Given the description of an element on the screen output the (x, y) to click on. 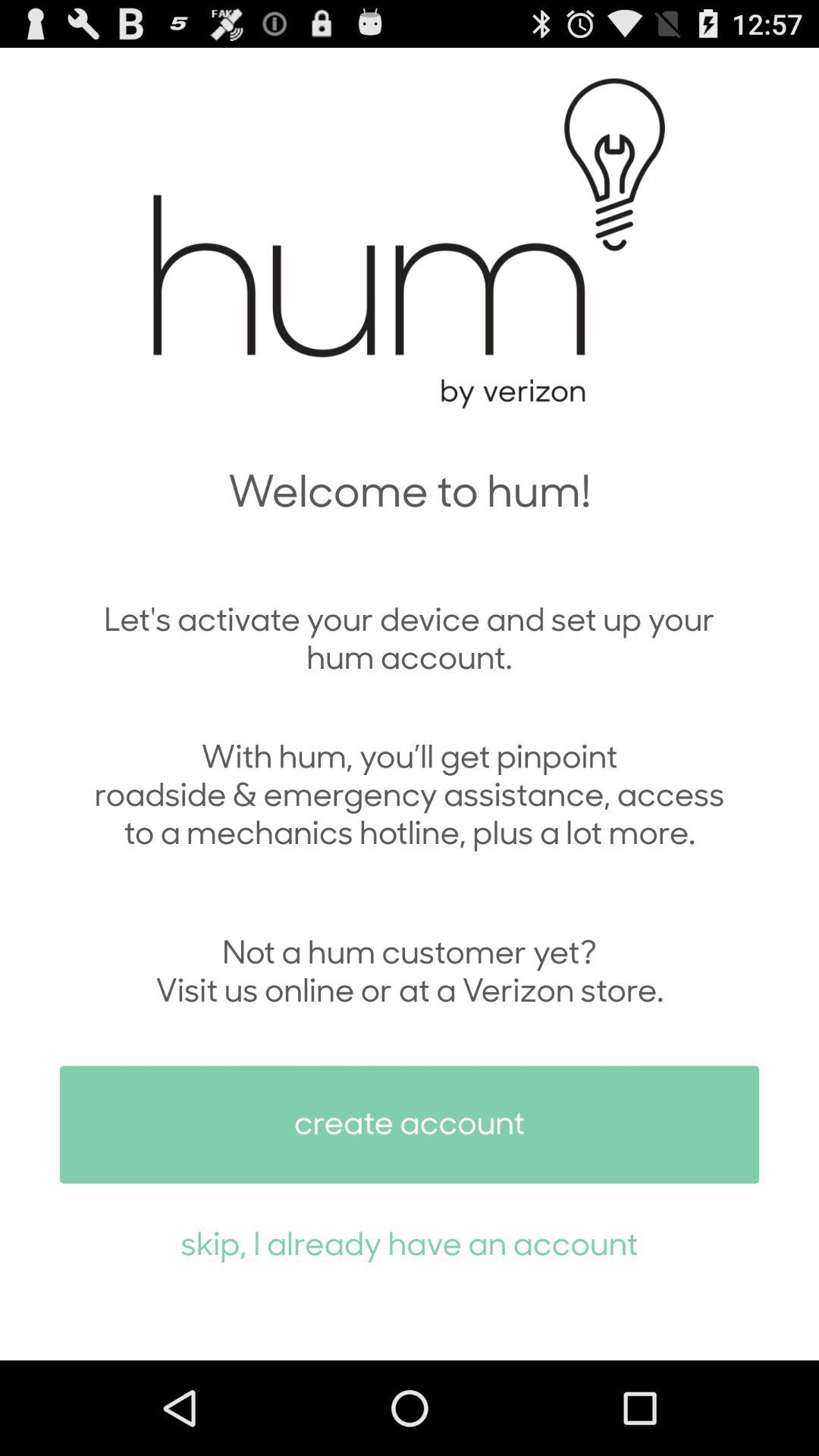
swipe until create account icon (409, 1124)
